Given the description of an element on the screen output the (x, y) to click on. 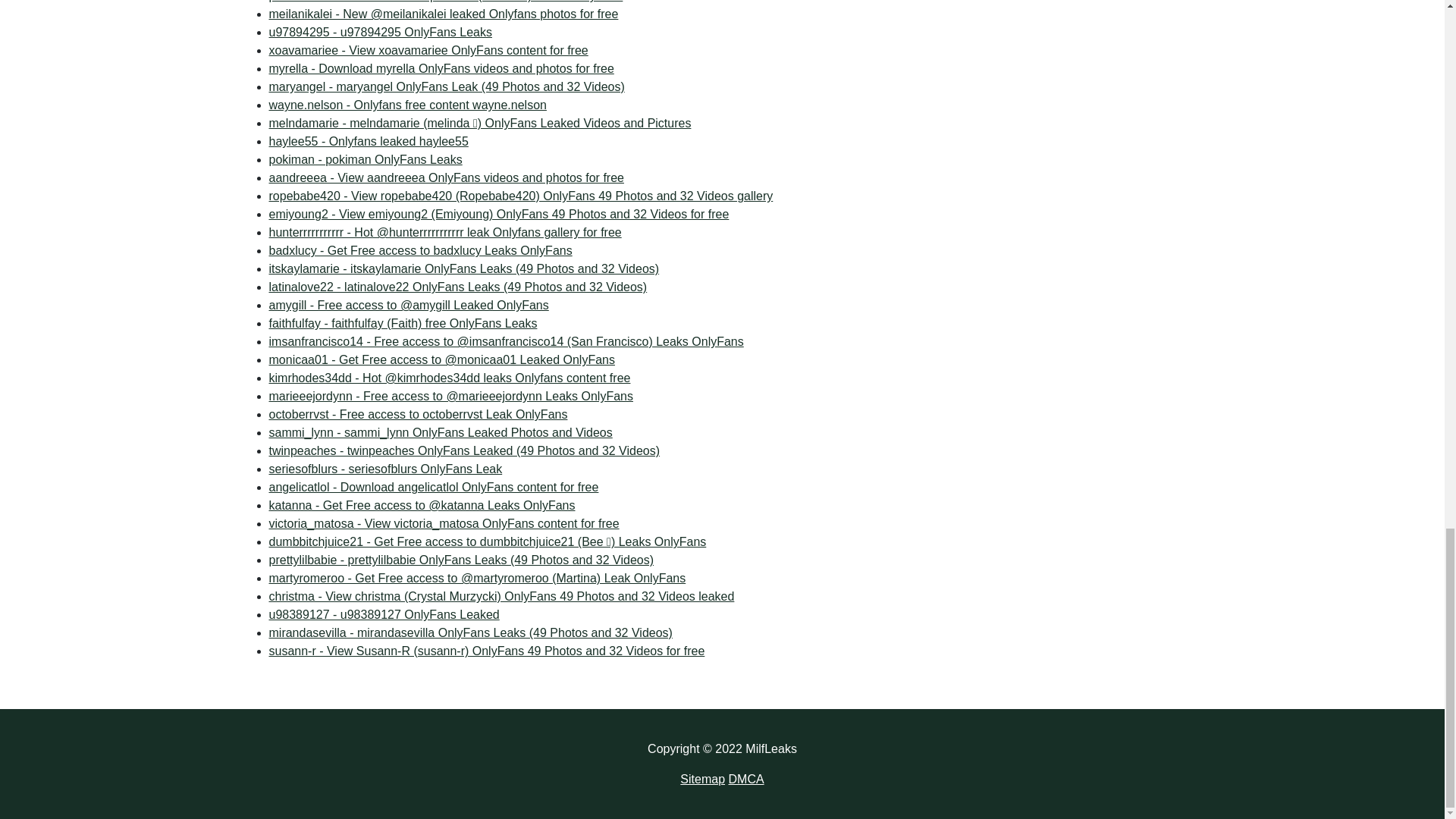
haylee55 - Onlyfans leaked haylee55 (367, 141)
wayne.nelson - Onlyfans free content wayne.nelson (406, 104)
badxlucy - Get Free access to badxlucy Leaks OnlyFans (419, 250)
u97894295 - u97894295 OnlyFans Leaks (439, 68)
xoavamariee - View xoavamariee OnlyFans content for free (406, 104)
pokiman - pokiman OnlyFans Leaks (379, 31)
